Given the description of an element on the screen output the (x, y) to click on. 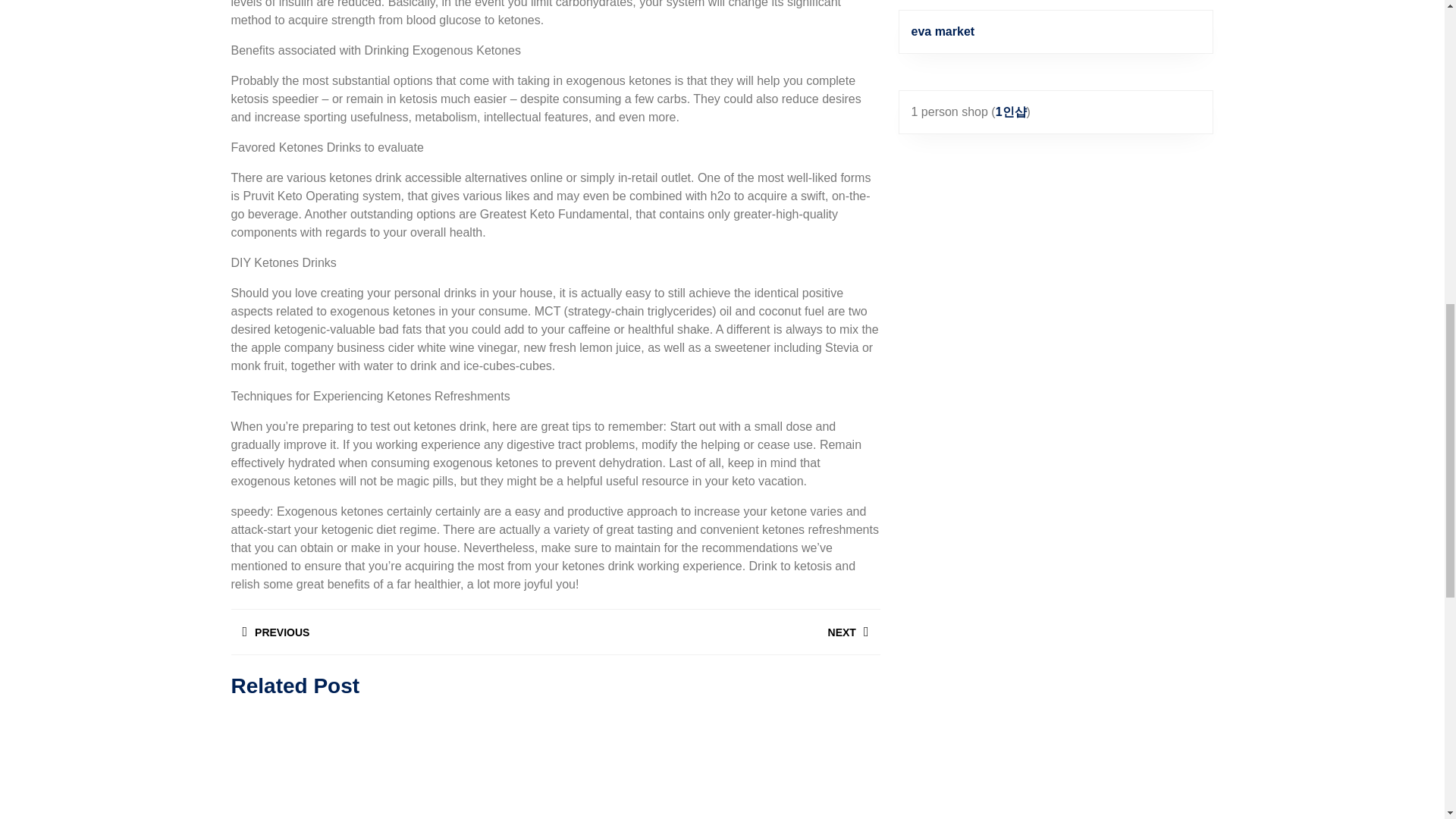
eva market (392, 632)
